Given the description of an element on the screen output the (x, y) to click on. 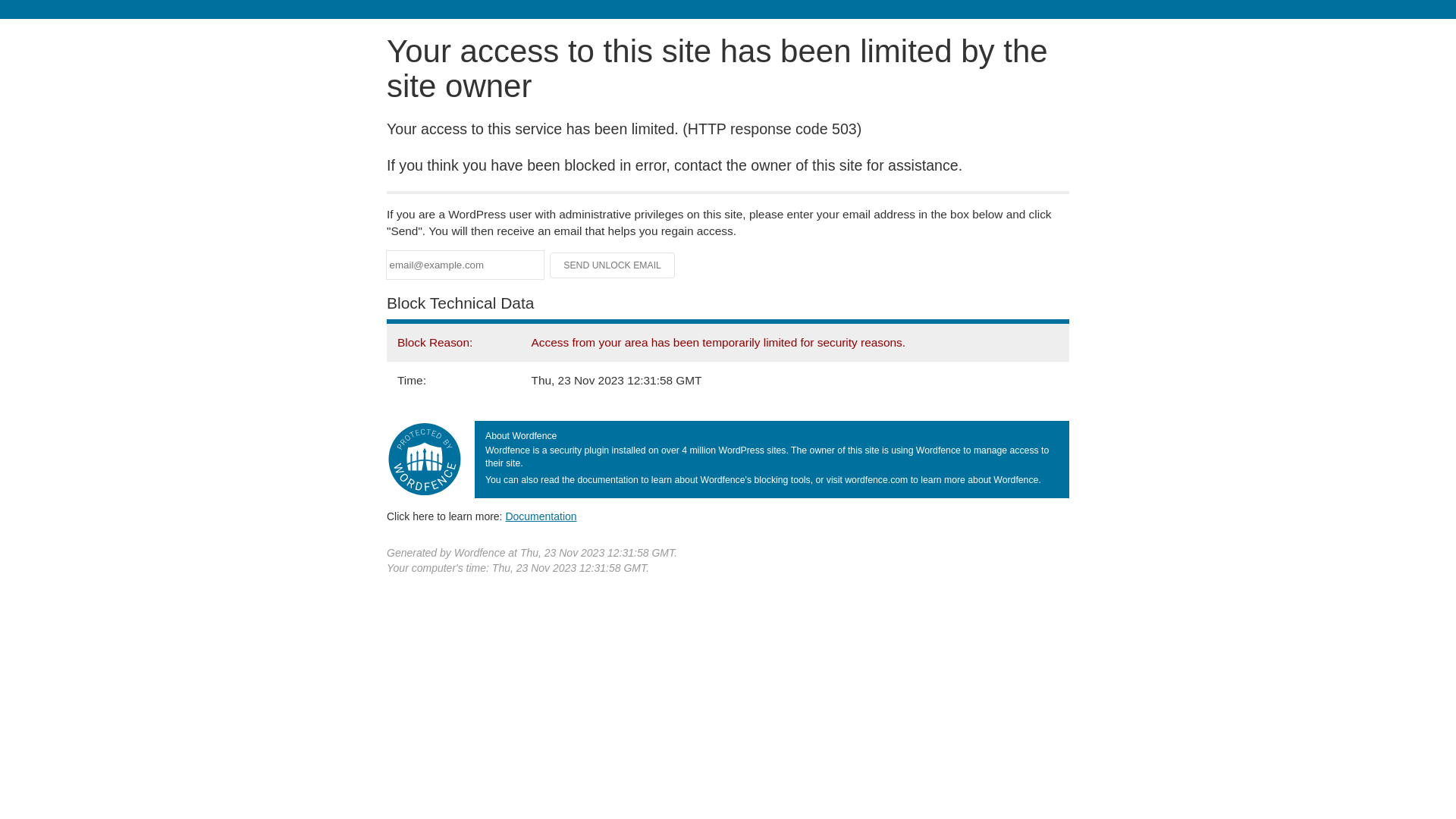
Send Unlock Email Element type: text (612, 265)
Documentation Element type: text (540, 516)
